Given the description of an element on the screen output the (x, y) to click on. 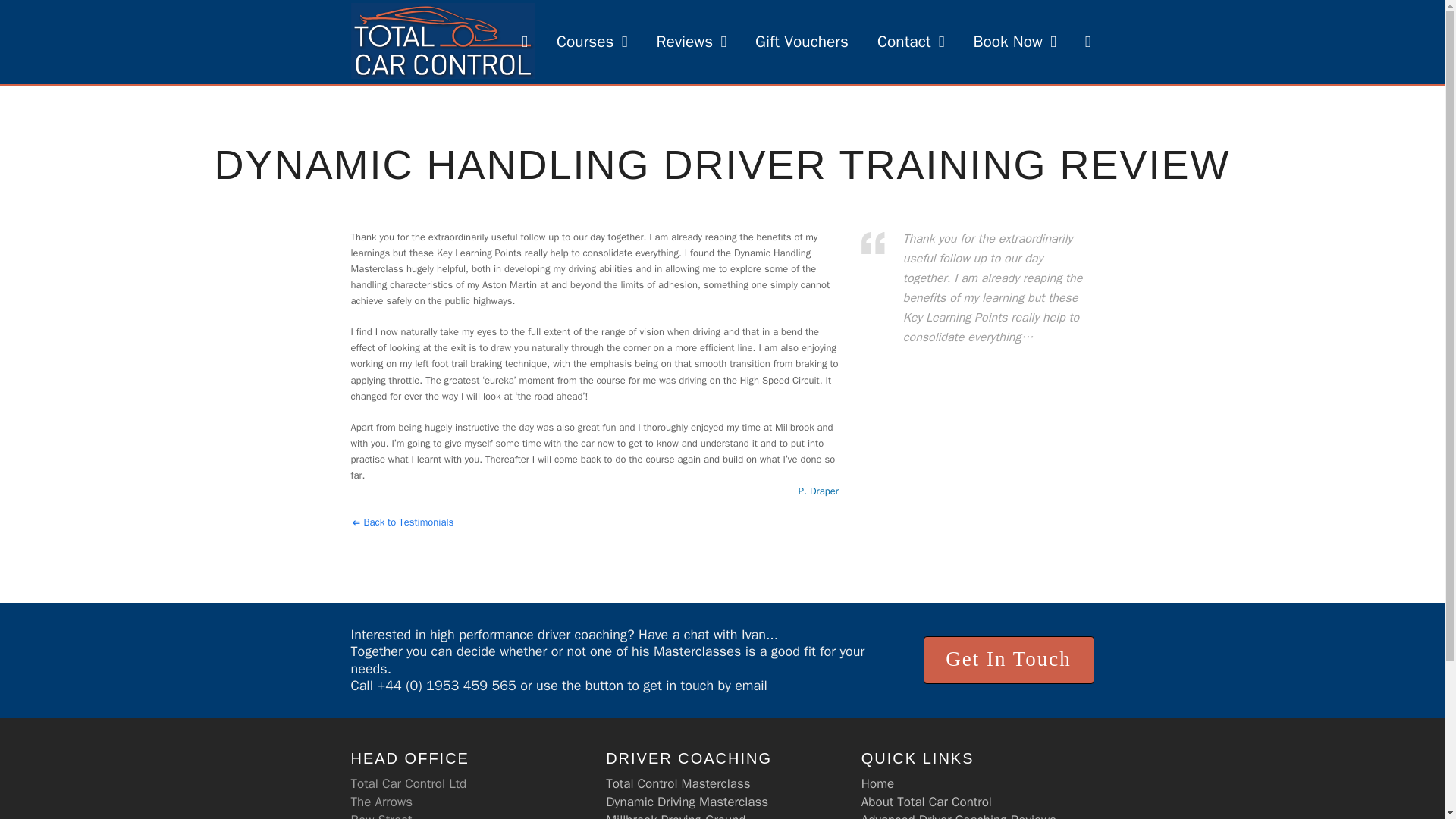
About Total Car Control (926, 801)
Dynamic Driving Masterclass (686, 801)
Gift Vouchers (802, 41)
Reviews (691, 41)
Home (877, 783)
Advanced Driver Coaching Reviews (959, 815)
Get In Touch (1008, 660)
Total Control Masterclass (677, 783)
Courses (591, 41)
Millbrook Proving Ground (675, 815)
